Given the description of an element on the screen output the (x, y) to click on. 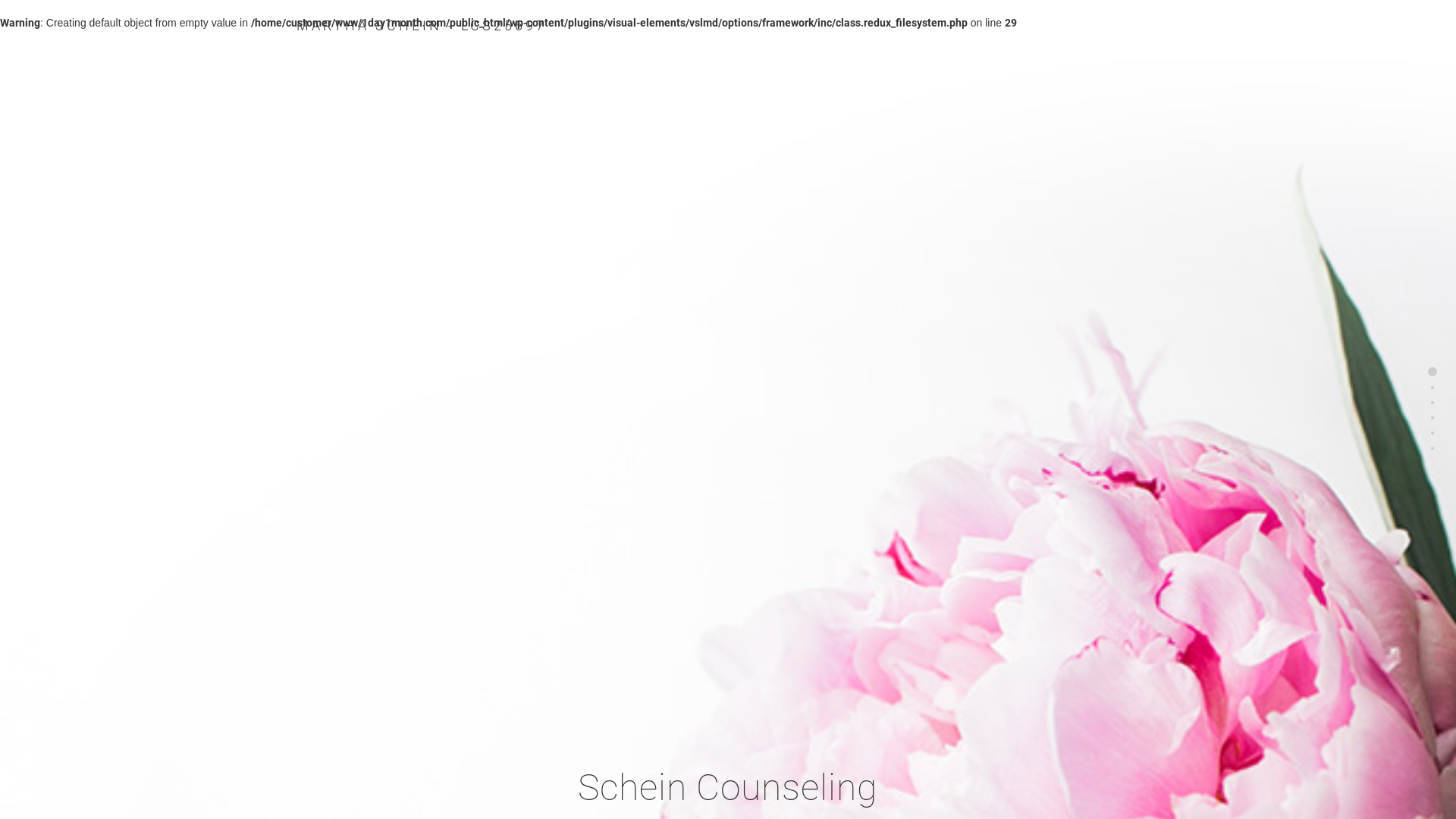
MARTHA SCHEIN - LCS25697 Element type: text (421, 25)
